Given the description of an element on the screen output the (x, y) to click on. 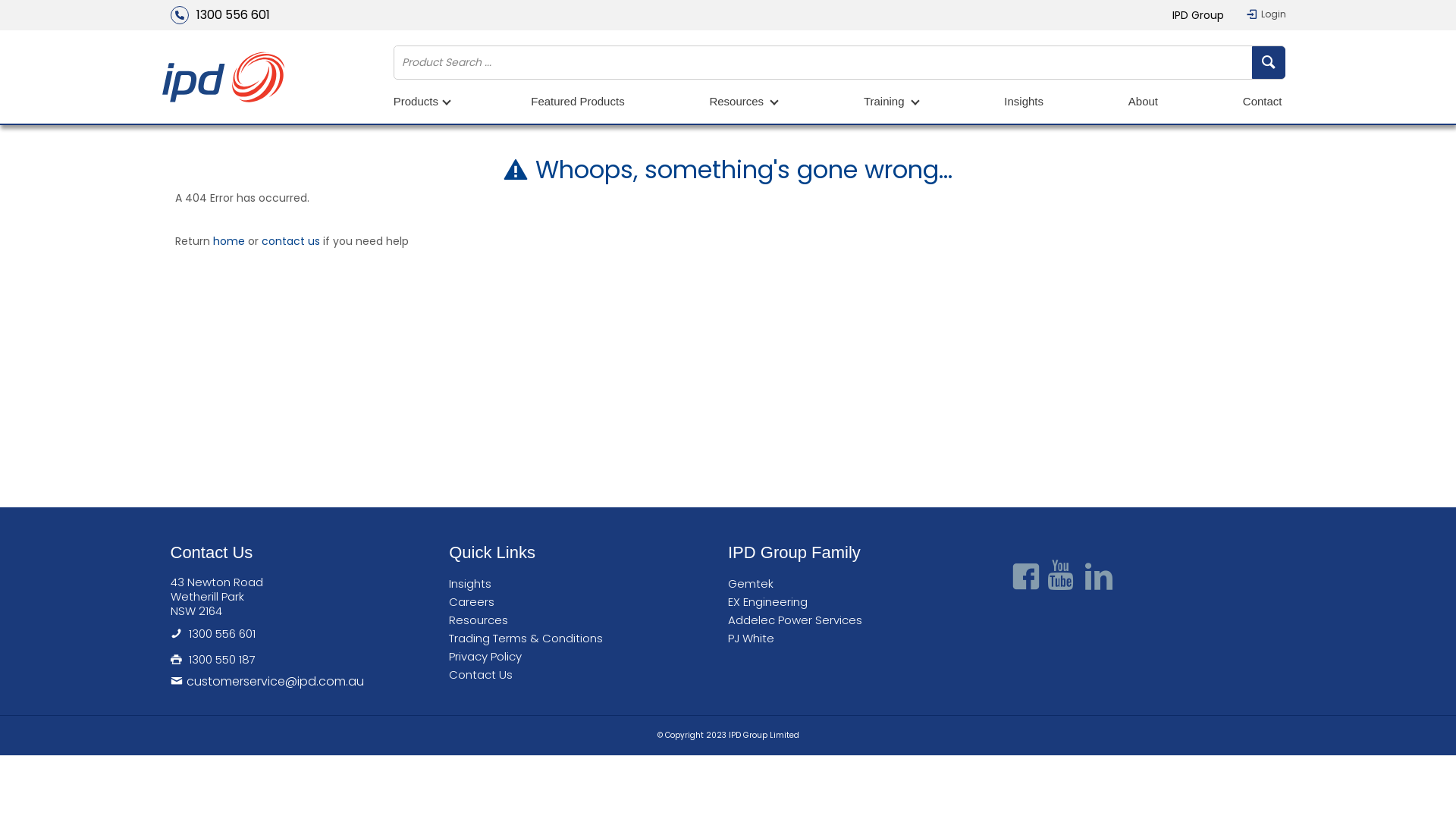
Careers Element type: text (475, 601)
Featured Products Element type: text (577, 102)
Insights Element type: text (1023, 102)
EX Engineering Element type: text (771, 601)
1300 556 601 Element type: text (221, 633)
contact us Element type: text (290, 240)
customerservice@ipd.com.au Element type: text (308, 681)
About Element type: text (1142, 102)
Gemtek Element type: text (754, 583)
YouTube Element type: hover (1061, 576)
Addelec Power Services Element type: text (798, 619)
Contact Us Element type: text (484, 674)
home Element type: text (228, 240)
Trading Terms & Conditions Element type: text (529, 637)
Facebook Element type: hover (1025, 576)
Login Element type: text (1266, 13)
PJ White Element type: text (754, 637)
Privacy Policy Element type: text (488, 656)
Resources Element type: text (743, 102)
Training Element type: text (891, 102)
1300 556 601 Element type: text (219, 15)
Resources Element type: text (481, 619)
IPD Group Element type: text (1197, 14)
Contact Element type: text (1262, 102)
Insights Element type: text (473, 583)
LinkedIn Element type: hover (1097, 576)
